Given the description of an element on the screen output the (x, y) to click on. 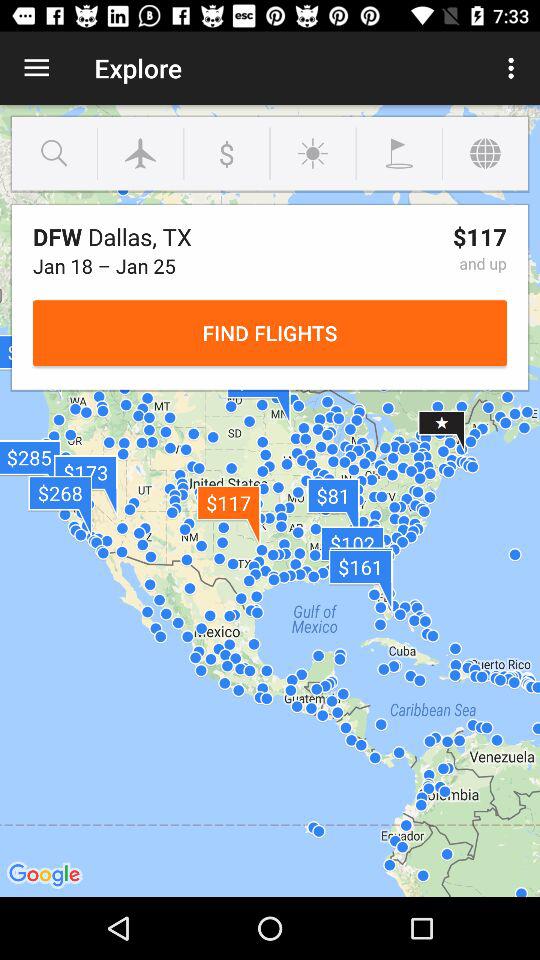
choose the item below jan 18 jan icon (270, 332)
